Given the description of an element on the screen output the (x, y) to click on. 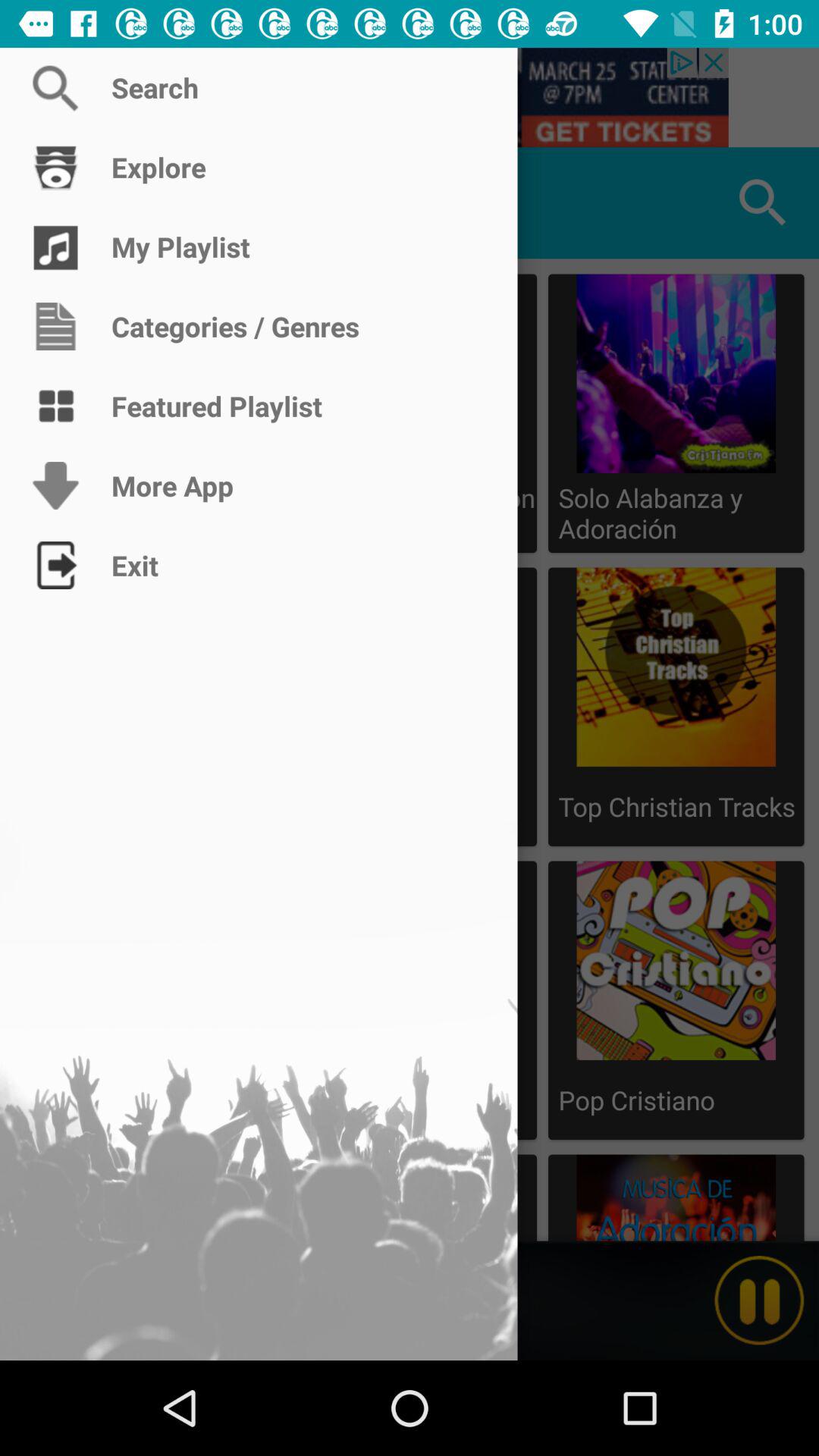
open search (409, 97)
